Given the description of an element on the screen output the (x, y) to click on. 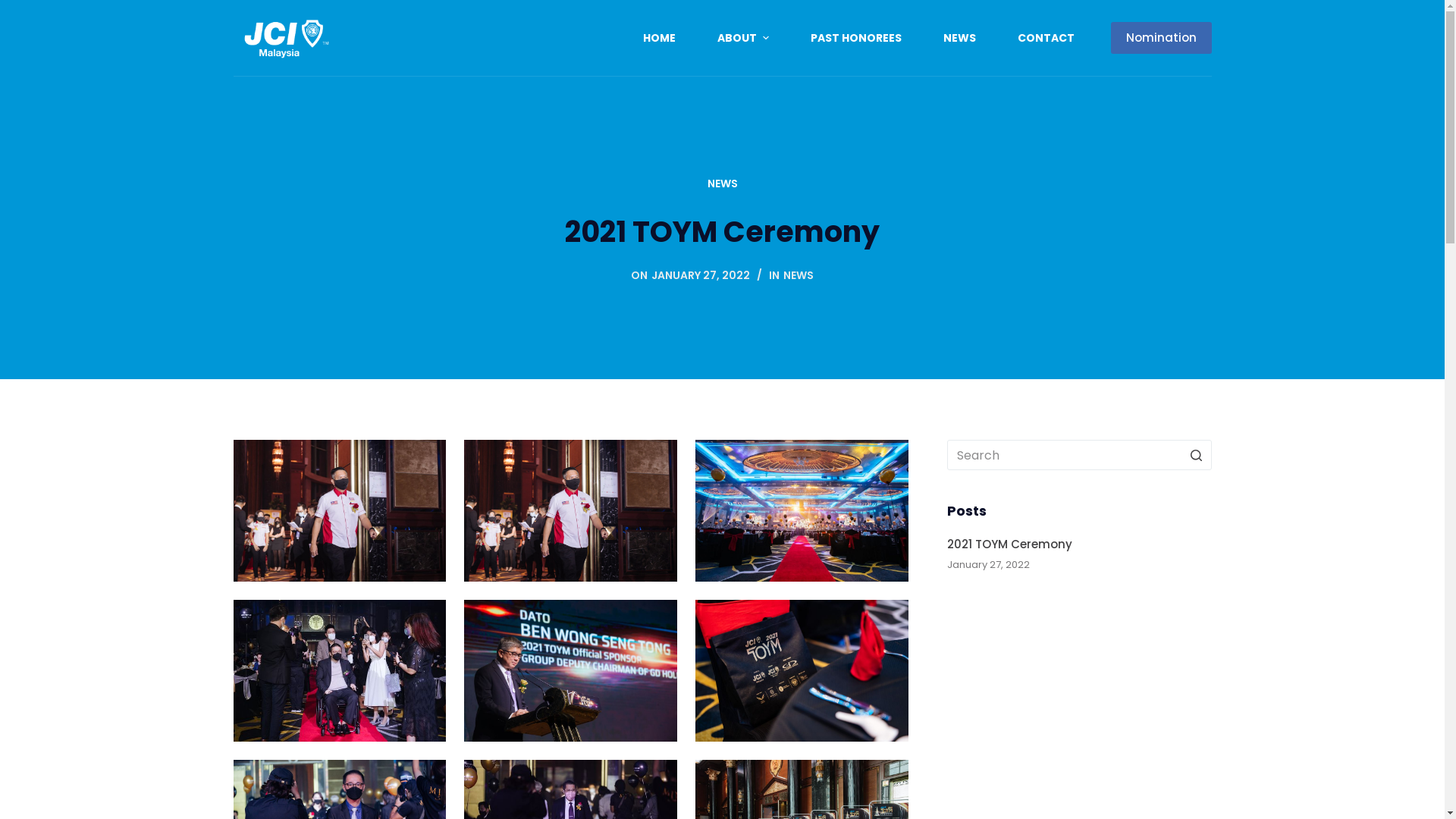
Skip to content Element type: text (15, 7)
PAST HONOREES Element type: text (856, 37)
Search for... Element type: hover (1079, 454)
NEWS Element type: text (798, 274)
CONTACT Element type: text (1045, 37)
Nomination Element type: text (1160, 37)
NEWS Element type: text (959, 37)
2021 TOYM Ceremony
January 27, 2022 Element type: text (1079, 554)
NEWS Element type: text (721, 183)
ABOUT Element type: text (743, 37)
HOME Element type: text (659, 37)
